Given the description of an element on the screen output the (x, y) to click on. 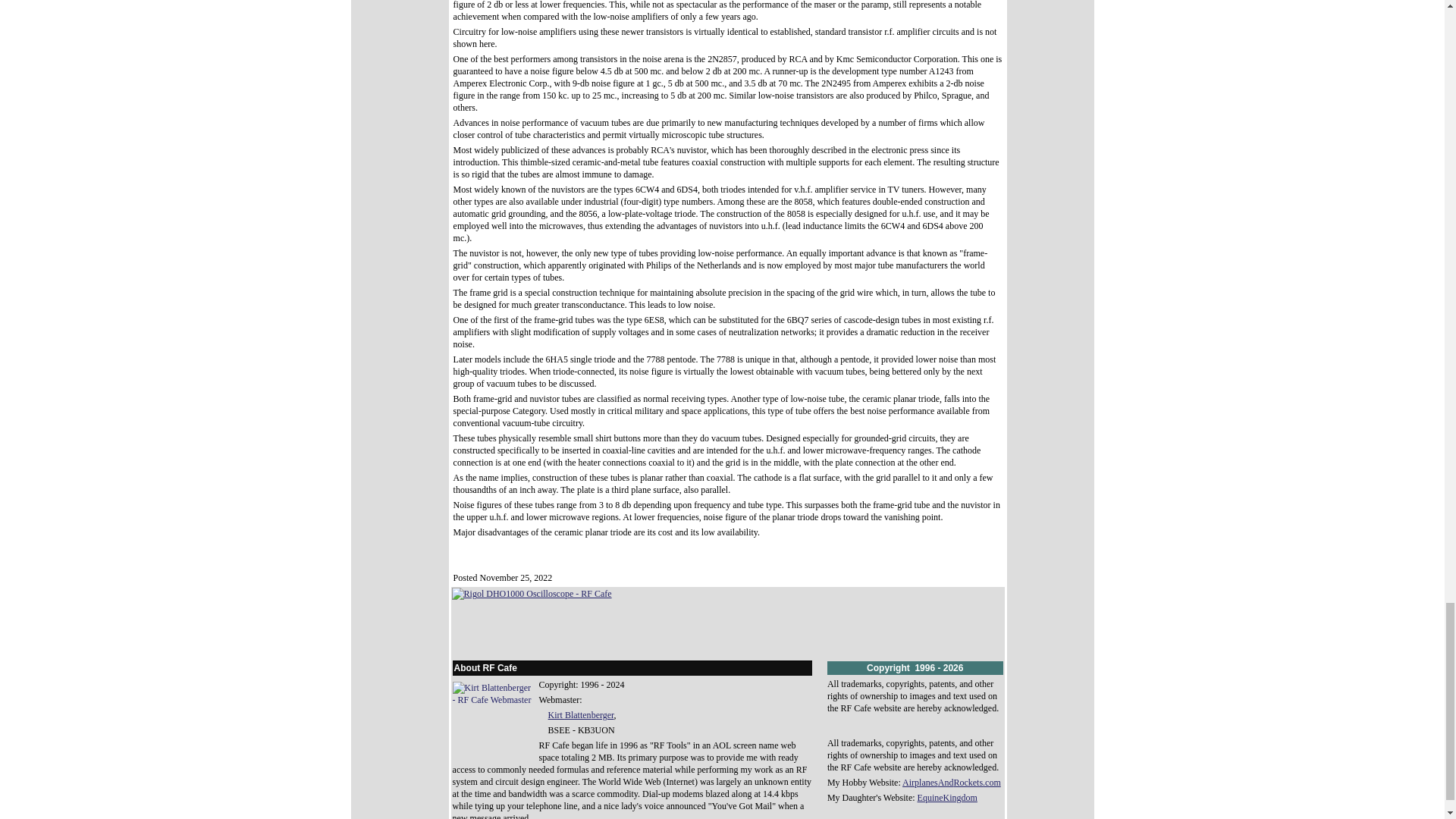
Kirt Blattenberger (581, 715)
EquineKingdom (946, 797)
... (531, 816)
AirplanesAndRockets.com (951, 782)
